Given the description of an element on the screen output the (x, y) to click on. 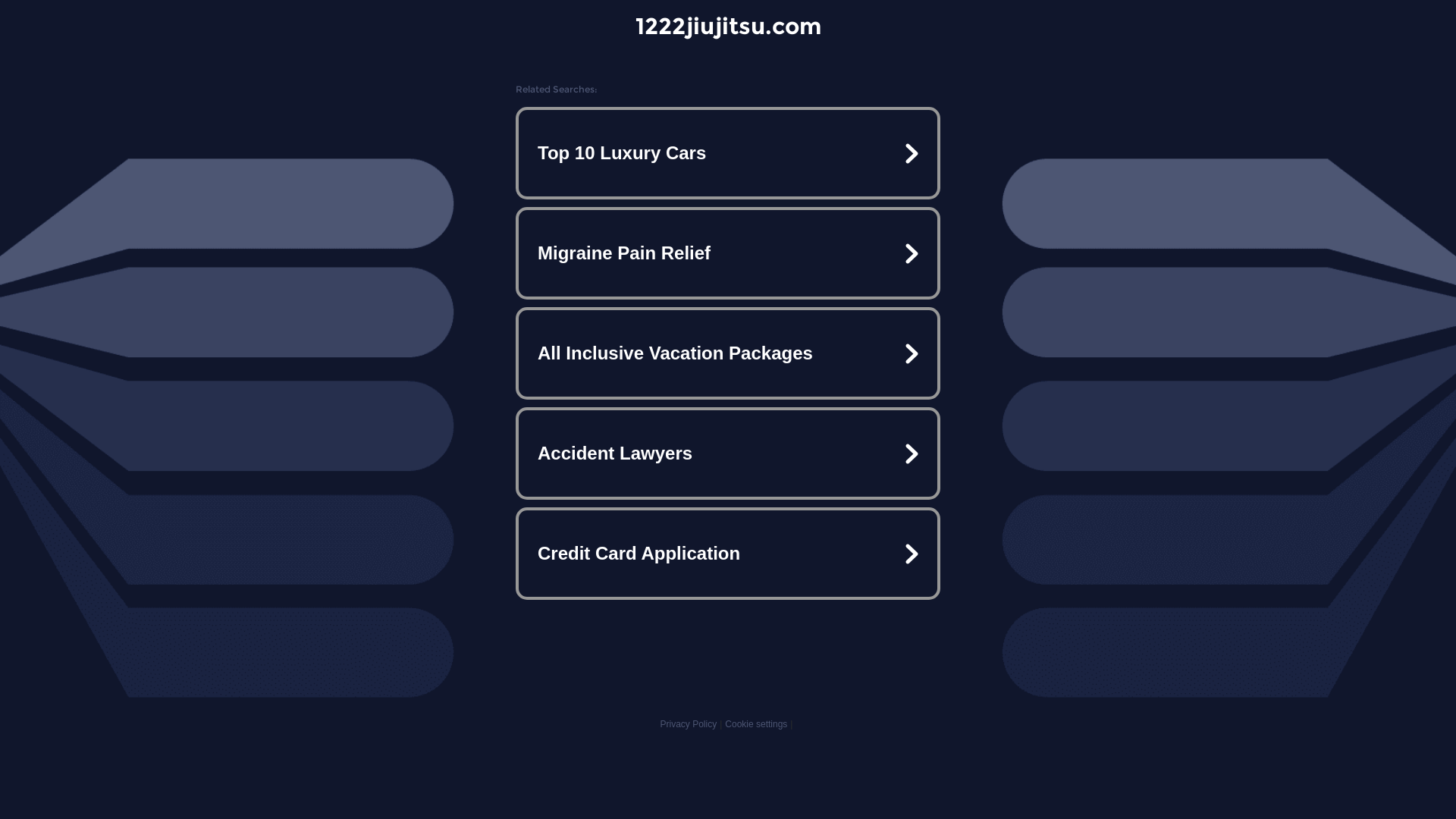
Cookie settings Element type: text (755, 723)
All Inclusive Vacation Packages Element type: text (727, 353)
Credit Card Application Element type: text (727, 553)
1222jiujitsu.com Element type: text (728, 26)
Top 10 Luxury Cars Element type: text (727, 152)
Privacy Policy Element type: text (687, 723)
Migraine Pain Relief Element type: text (727, 253)
Accident Lawyers Element type: text (727, 453)
